Given the description of an element on the screen output the (x, y) to click on. 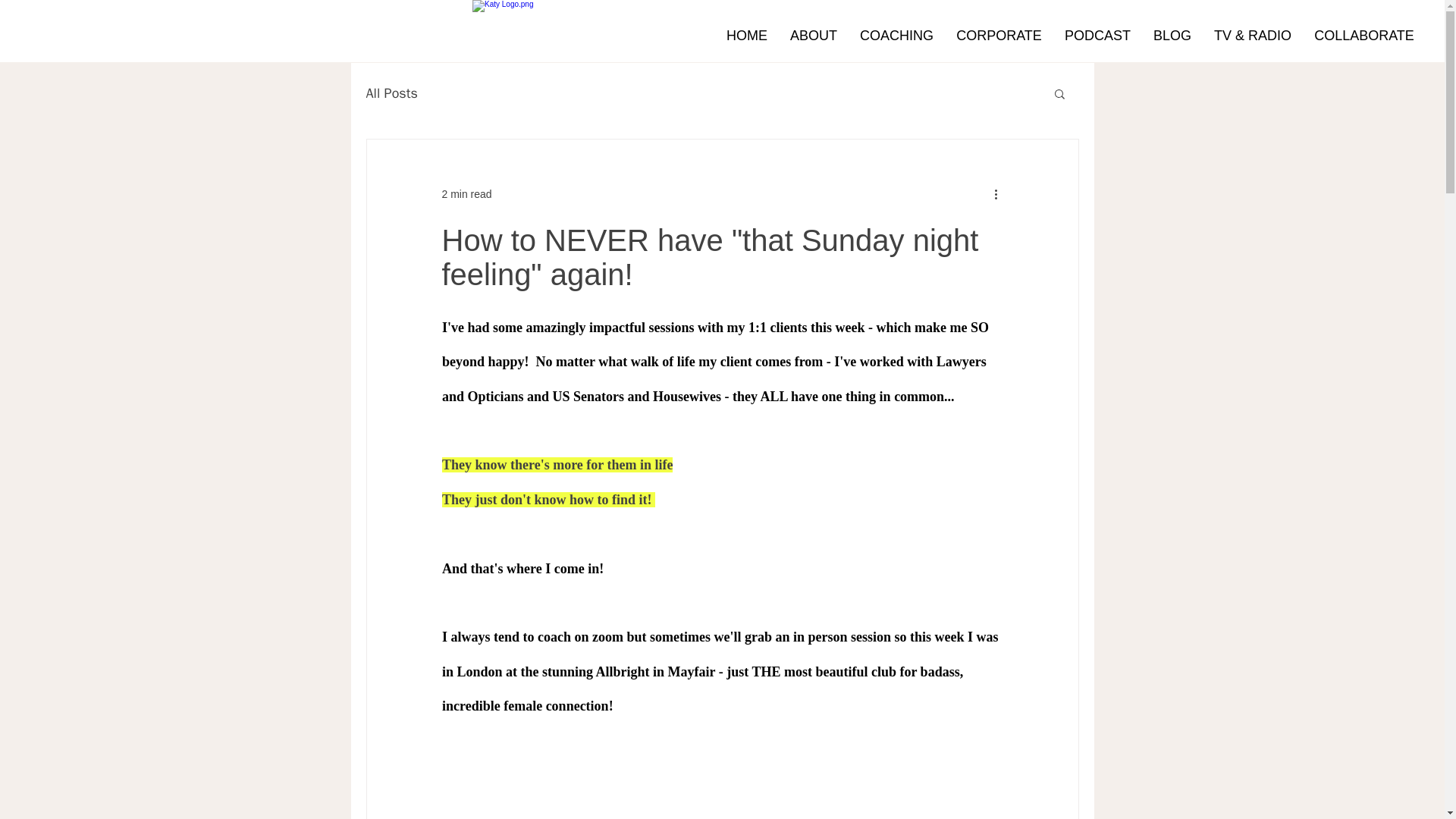
COACHING (896, 35)
2 min read (466, 193)
COLLABORATE (1364, 35)
HOME (746, 35)
CORPORATE (998, 35)
PODCAST (1096, 35)
ABOUT (813, 35)
All Posts (390, 93)
BLOG (1171, 35)
